Given the description of an element on the screen output the (x, y) to click on. 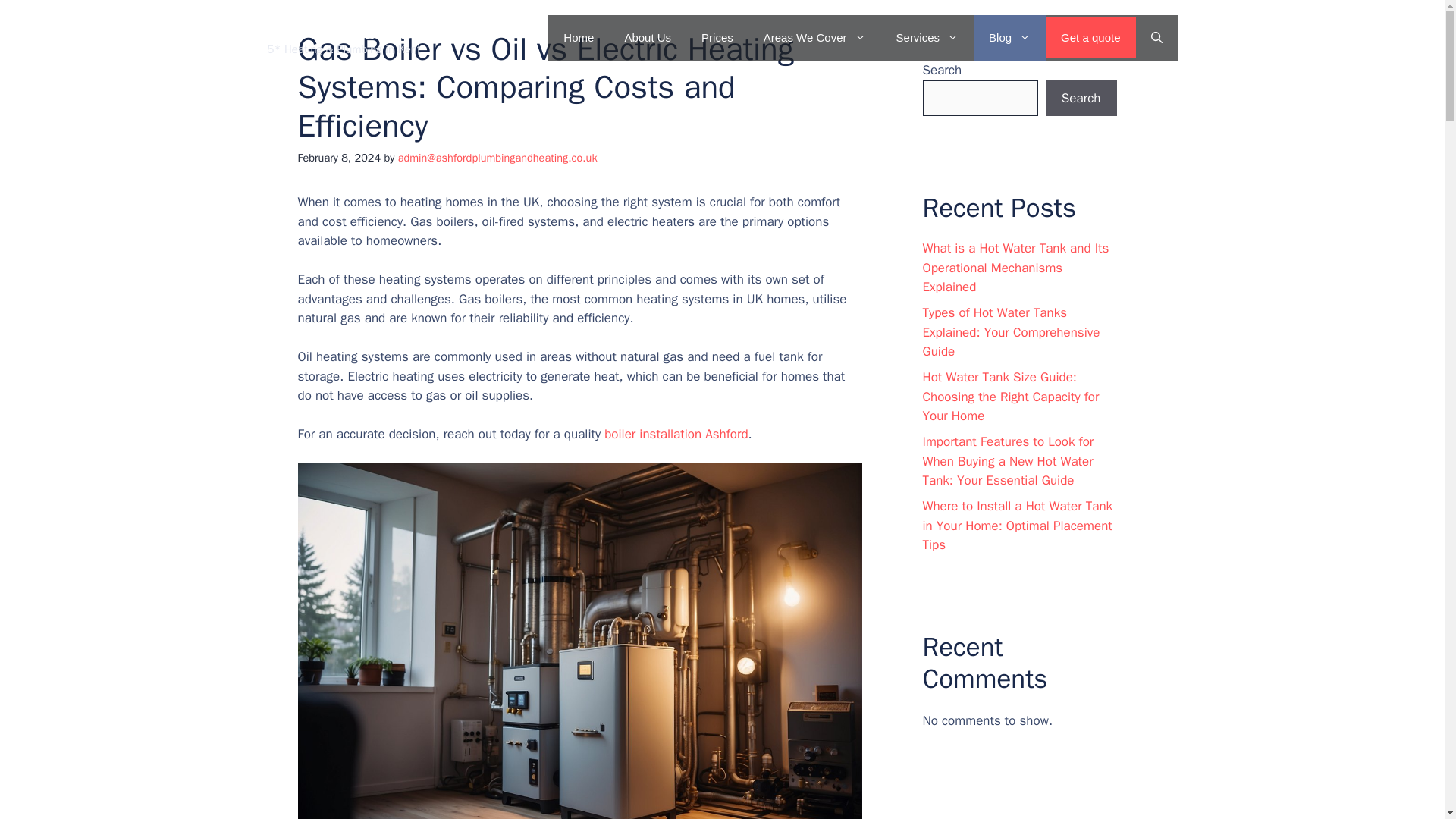
Home (676, 433)
Services (927, 37)
Areas We Cover (814, 37)
Kent Heating Engineers (363, 28)
About Us (646, 37)
Prices (716, 37)
Home (578, 37)
